Given the description of an element on the screen output the (x, y) to click on. 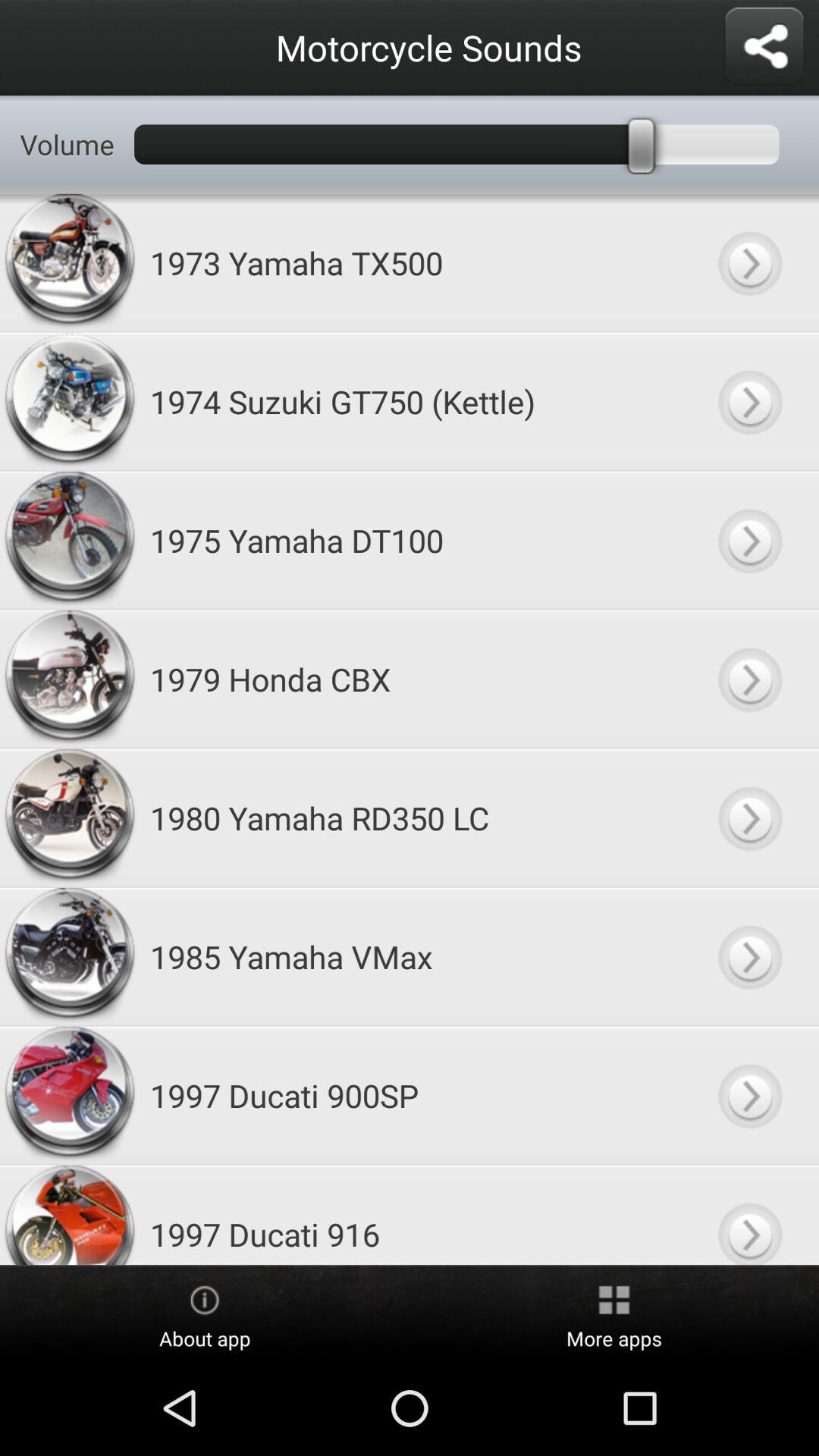
listen to selected motorcycle sound (749, 818)
